Given the description of an element on the screen output the (x, y) to click on. 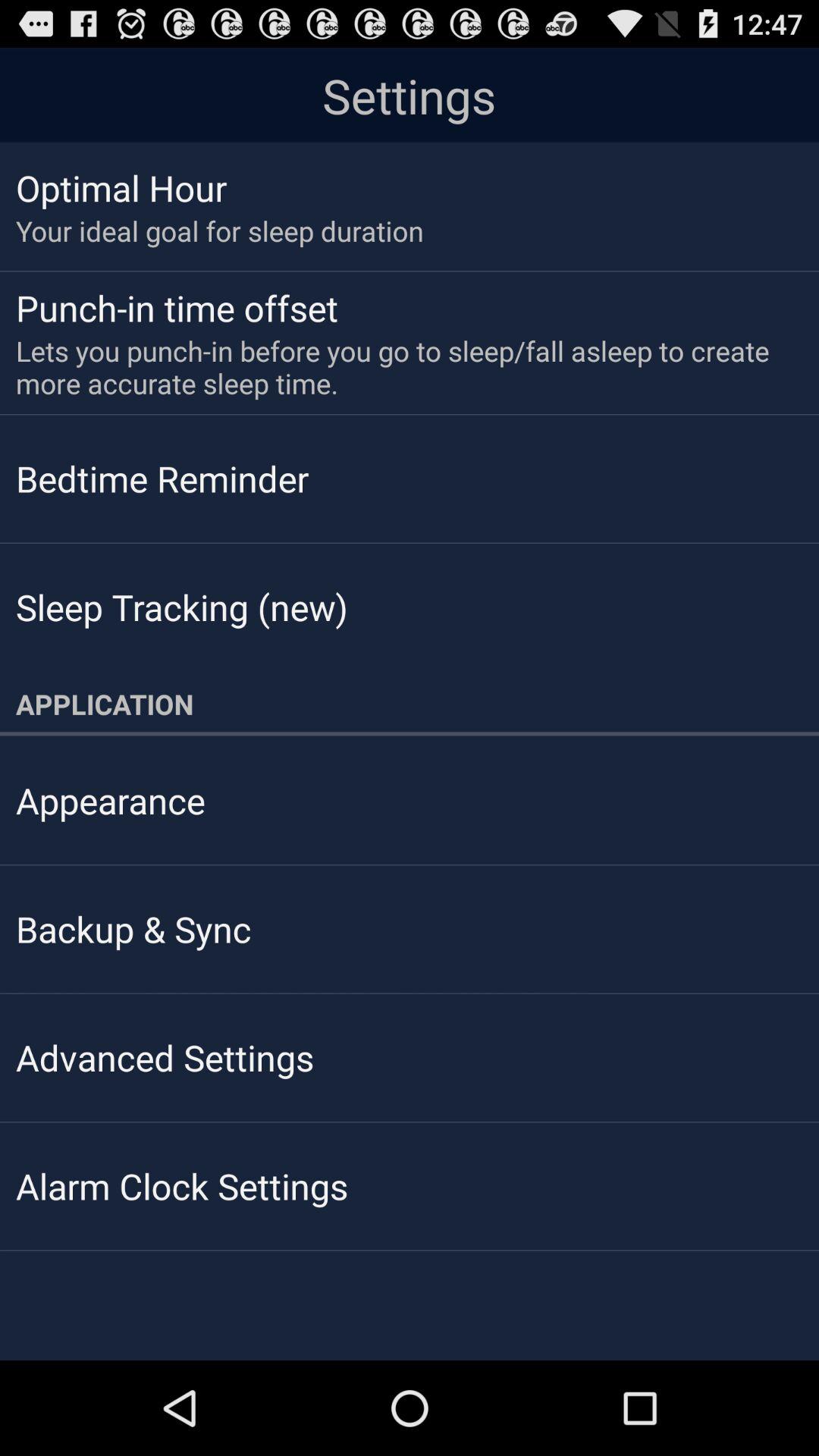
flip to the application app (409, 703)
